Given the description of an element on the screen output the (x, y) to click on. 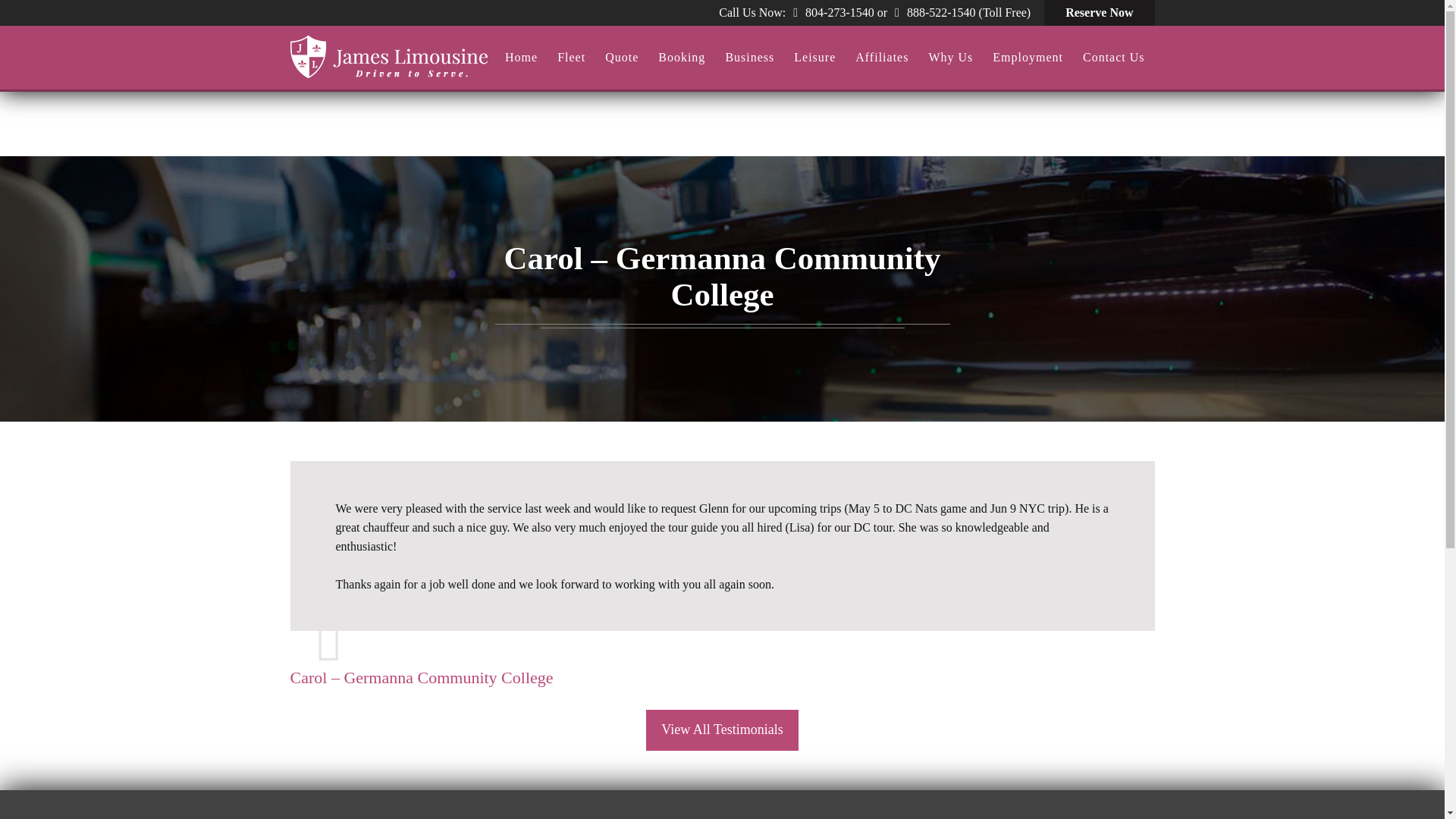
Why Us (950, 57)
Quote (621, 57)
Business (749, 57)
Reserve Now (1098, 12)
Home (521, 57)
Fleet (571, 57)
Leisure (814, 57)
Affiliates (881, 57)
Booking (680, 57)
804-273-1540 (840, 11)
